Given the description of an element on the screen output the (x, y) to click on. 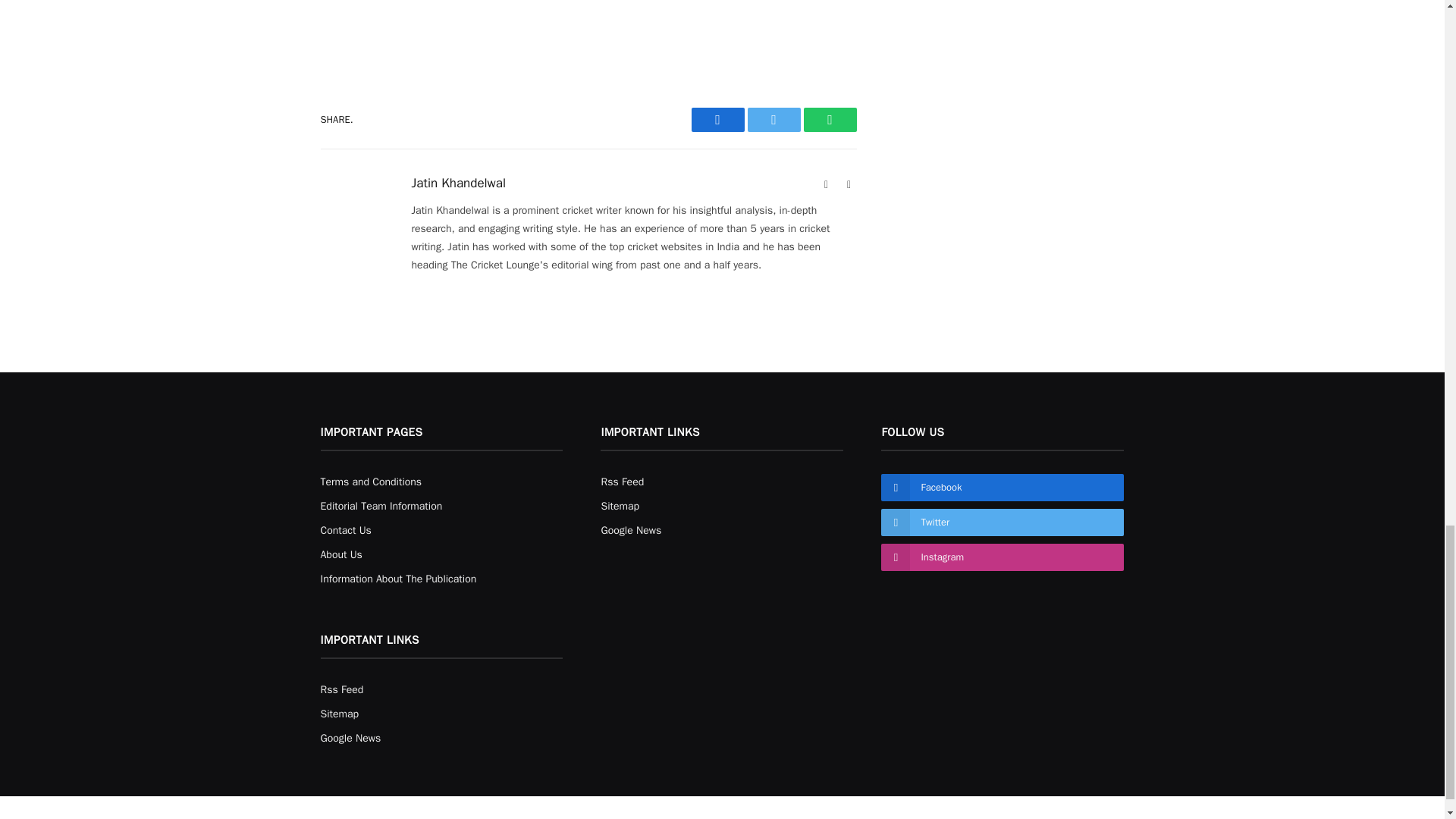
Share on Facebook (717, 119)
WhatsApp (830, 119)
Posts by Jatin Khandelwal (457, 183)
Twitter (774, 119)
Share on WhatsApp (830, 119)
Facebook (717, 119)
Instagram (849, 184)
Jatin Khandelwal (457, 183)
